Given the description of an element on the screen output the (x, y) to click on. 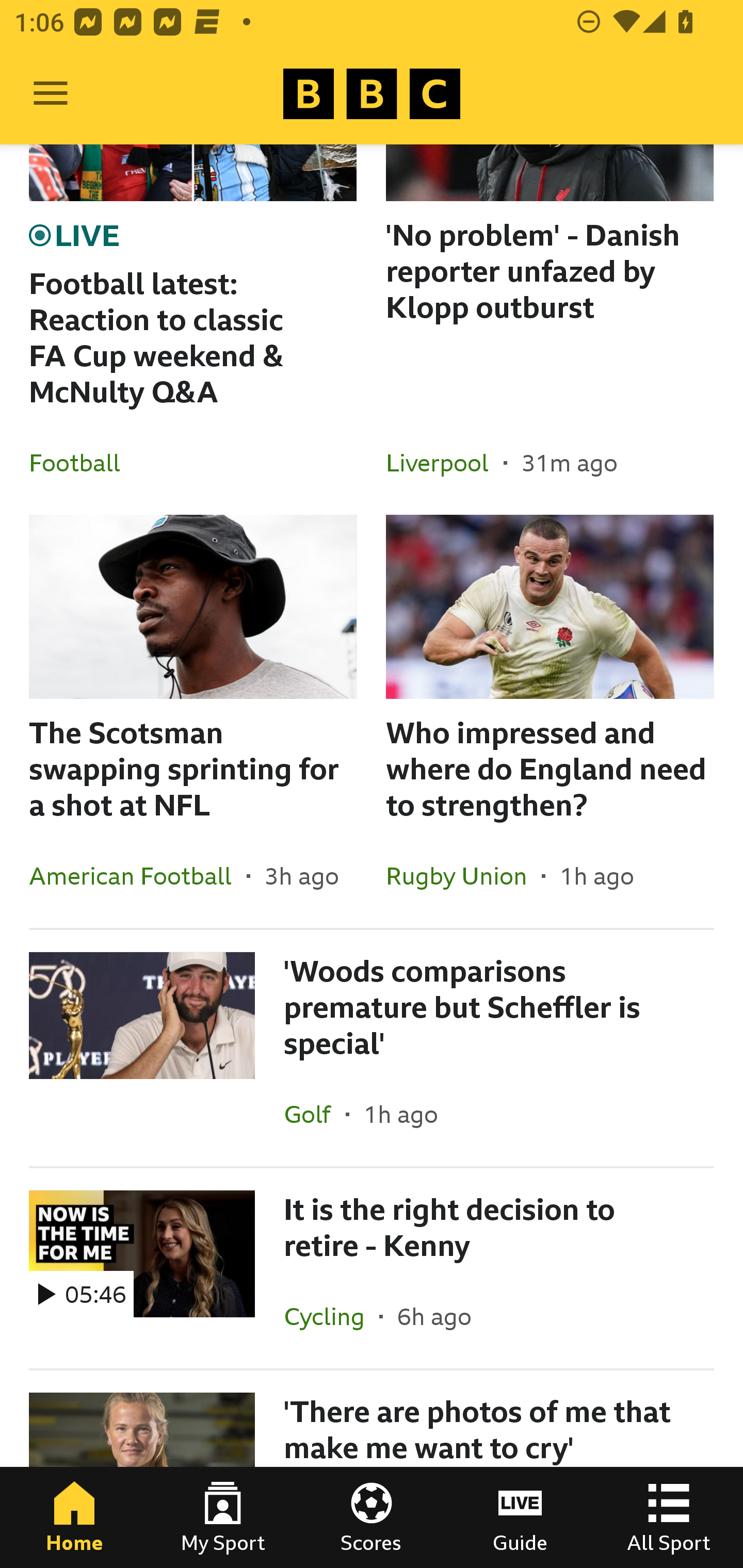
Open Menu (50, 93)
Football In the section Football (81, 462)
Liverpool In the section Liverpool (444, 462)
American Football In the section American Football (137, 875)
Rugby Union In the section Rugby Union (463, 875)
Golf In the section Golf (314, 1113)
Cycling In the section Cycling (330, 1315)
My Sport (222, 1517)
Scores (371, 1517)
Guide (519, 1517)
All Sport (668, 1517)
